Given the description of an element on the screen output the (x, y) to click on. 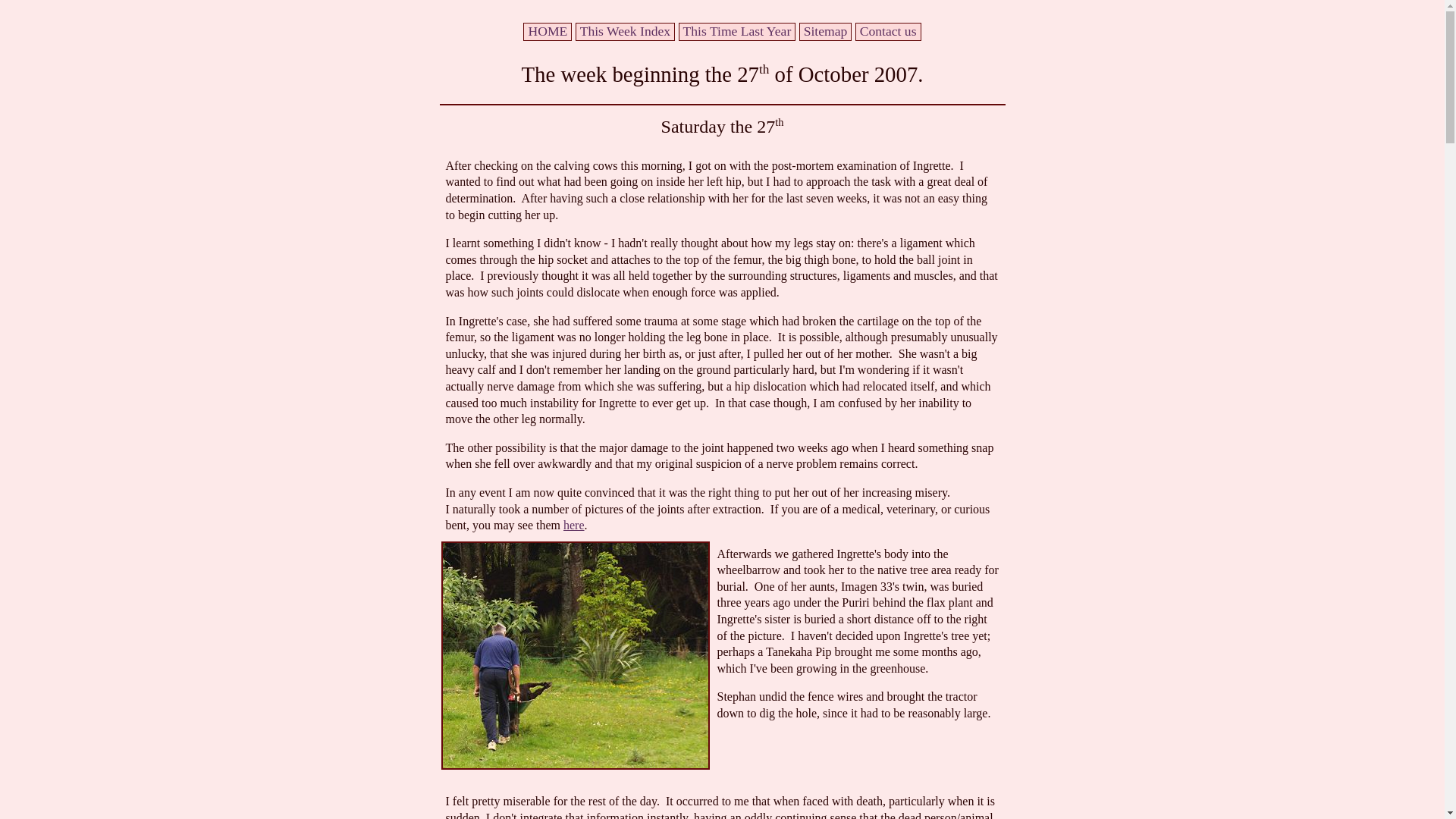
Sitemap (825, 30)
A map of how things connect within this site. (825, 30)
What was happening this time last year? (736, 30)
This Week Index (625, 30)
HOME (547, 30)
Index of all updates. (625, 30)
Contact us (888, 30)
This Time Last Year (736, 30)
Back to the Home page. (547, 30)
here (574, 524)
ready for burial (575, 655)
